Given the description of an element on the screen output the (x, y) to click on. 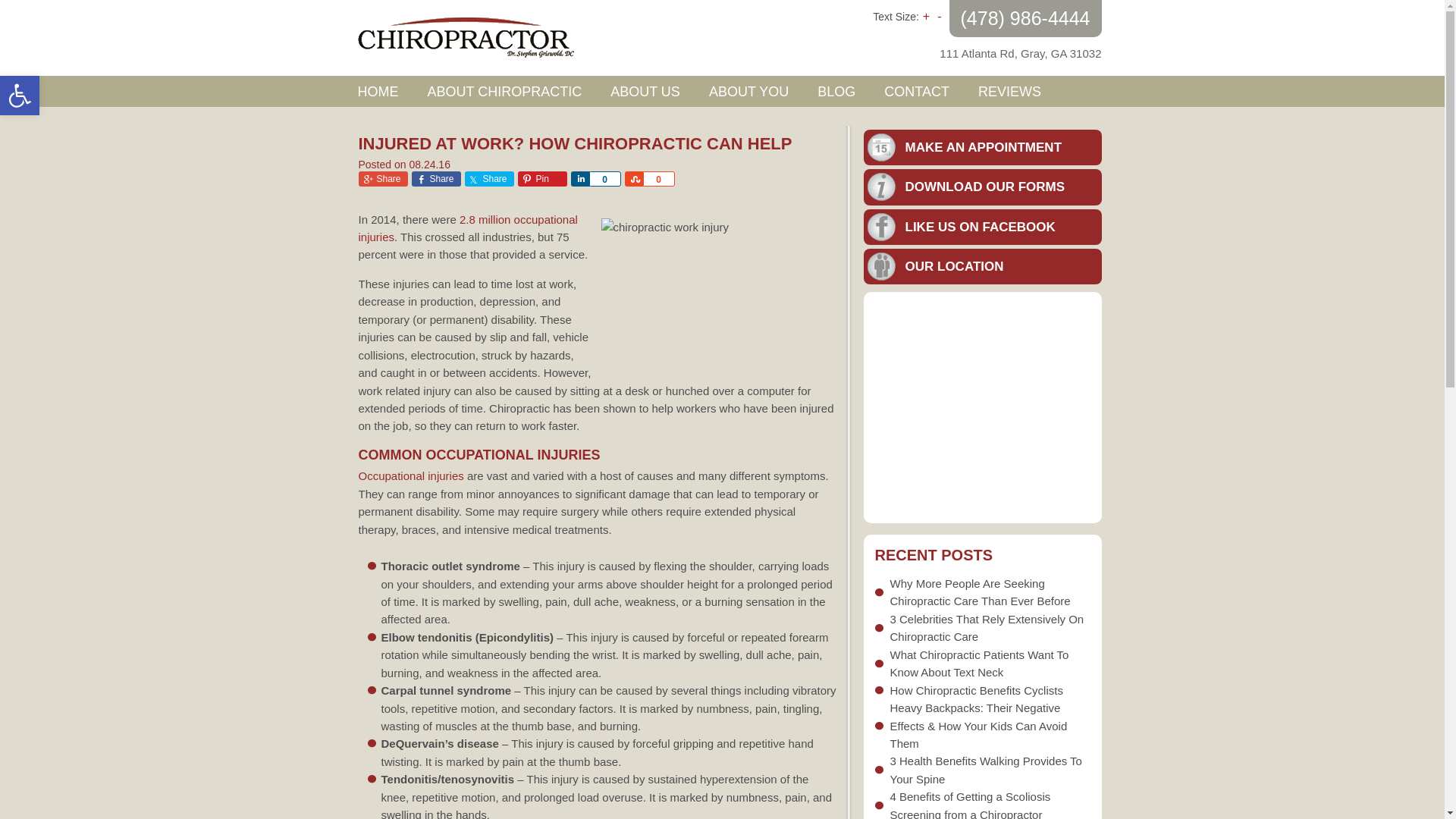
BLOG (836, 91)
ABOUT YOU (748, 91)
- (938, 15)
Accessibility Tools (19, 95)
Share (19, 95)
Light Background (488, 178)
